Given the description of an element on the screen output the (x, y) to click on. 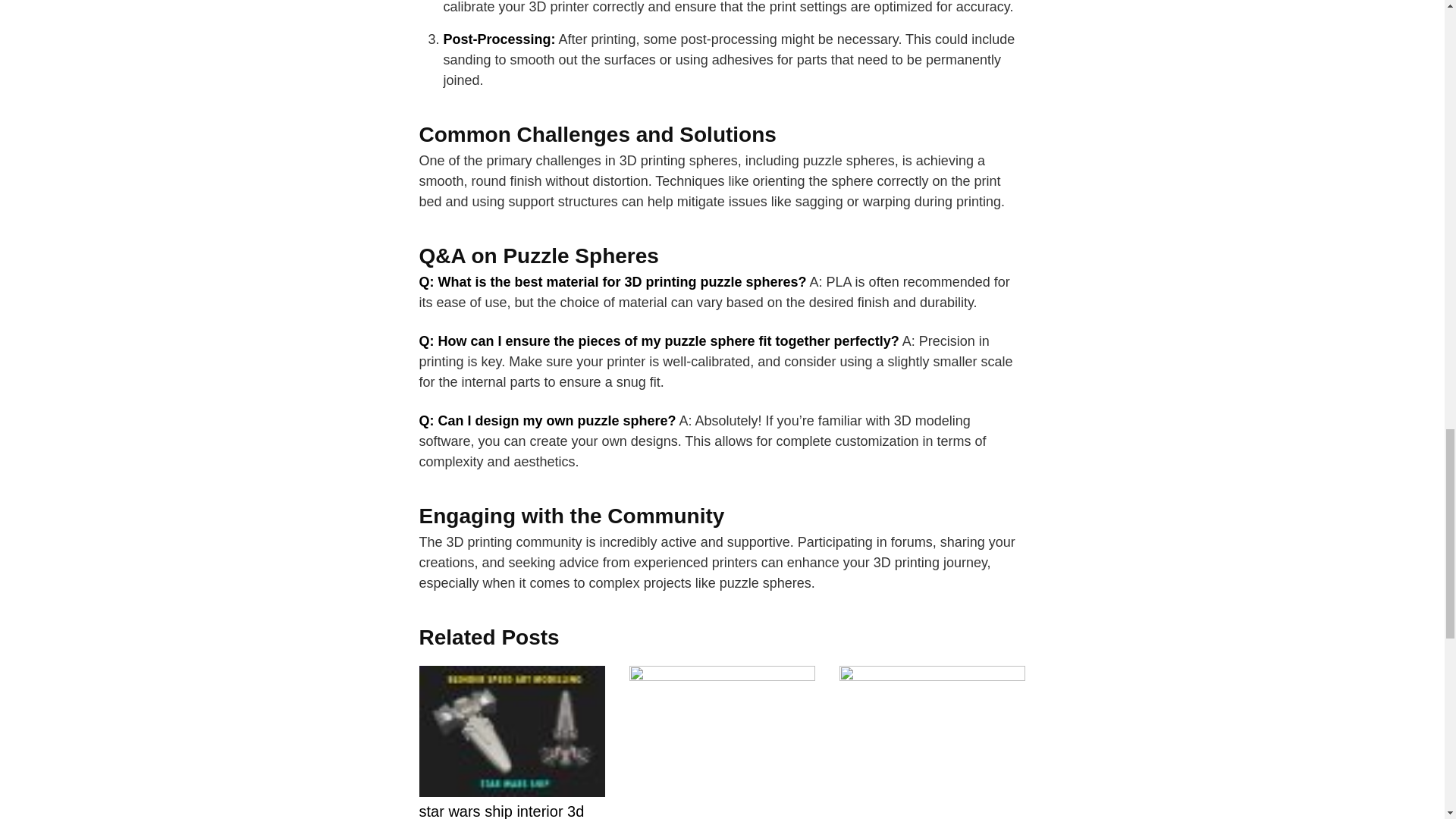
star wars ship interior 3d models (511, 771)
chomp chomp mario 3d models (721, 785)
tekton osrs 3d models (932, 785)
